Given the description of an element on the screen output the (x, y) to click on. 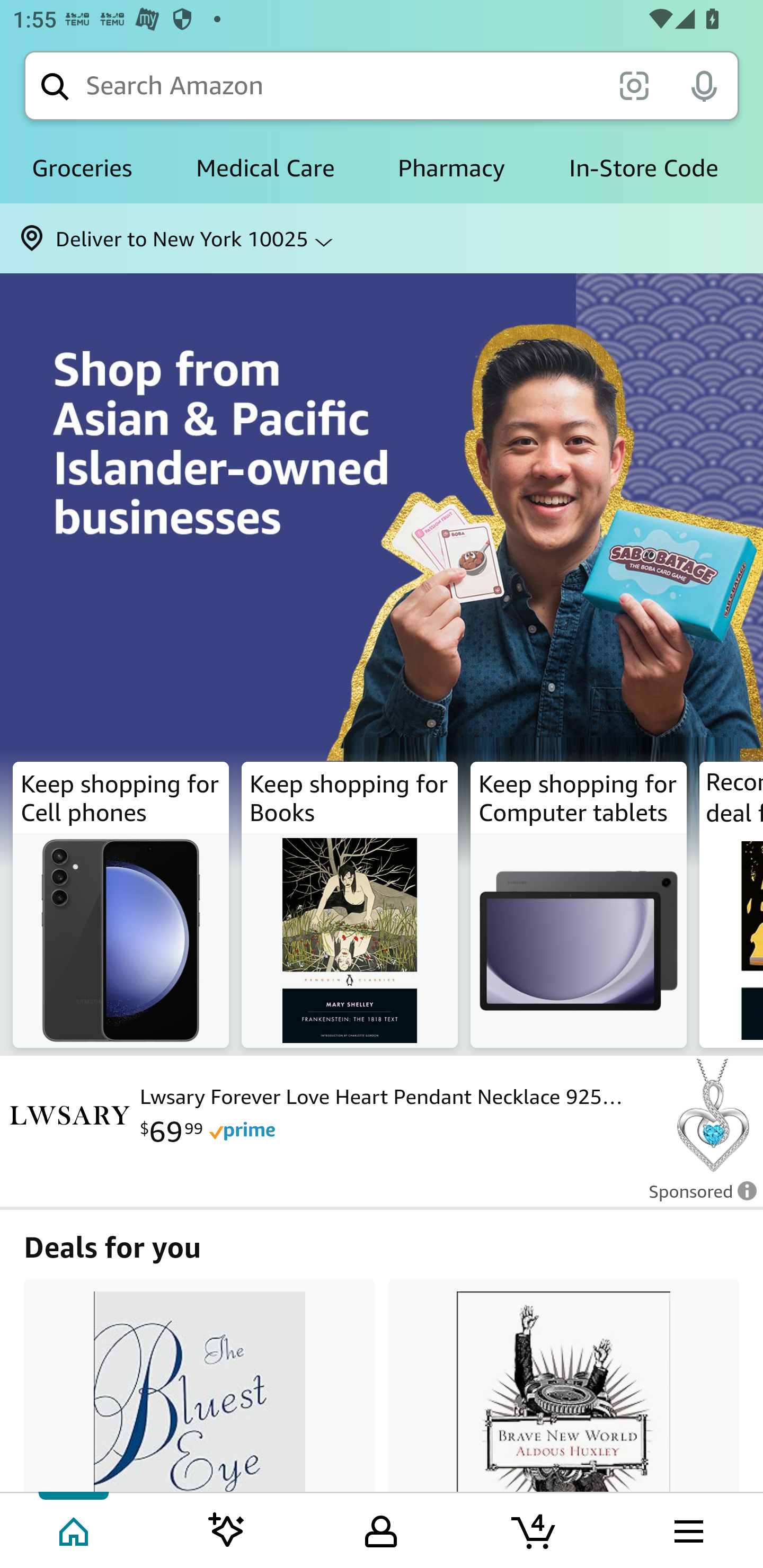
scan it (633, 85)
Groceries (82, 168)
Medical Care (265, 168)
Pharmacy (451, 168)
In-Store Code (643, 168)
Deliver to New York 10025 ⌵ (381, 237)
Keep shopping for Books Keep shopping for Books (349, 904)
Leave feedback on Sponsored ad Sponsored  (696, 1196)
Home Tab 1 of 5 (75, 1529)
Inspire feed Tab 2 of 5 (227, 1529)
Your Amazon.com Tab 3 of 5 (380, 1529)
Cart 4 items Tab 4 of 5 4 (534, 1529)
Browse menu Tab 5 of 5 (687, 1529)
